Given the description of an element on the screen output the (x, y) to click on. 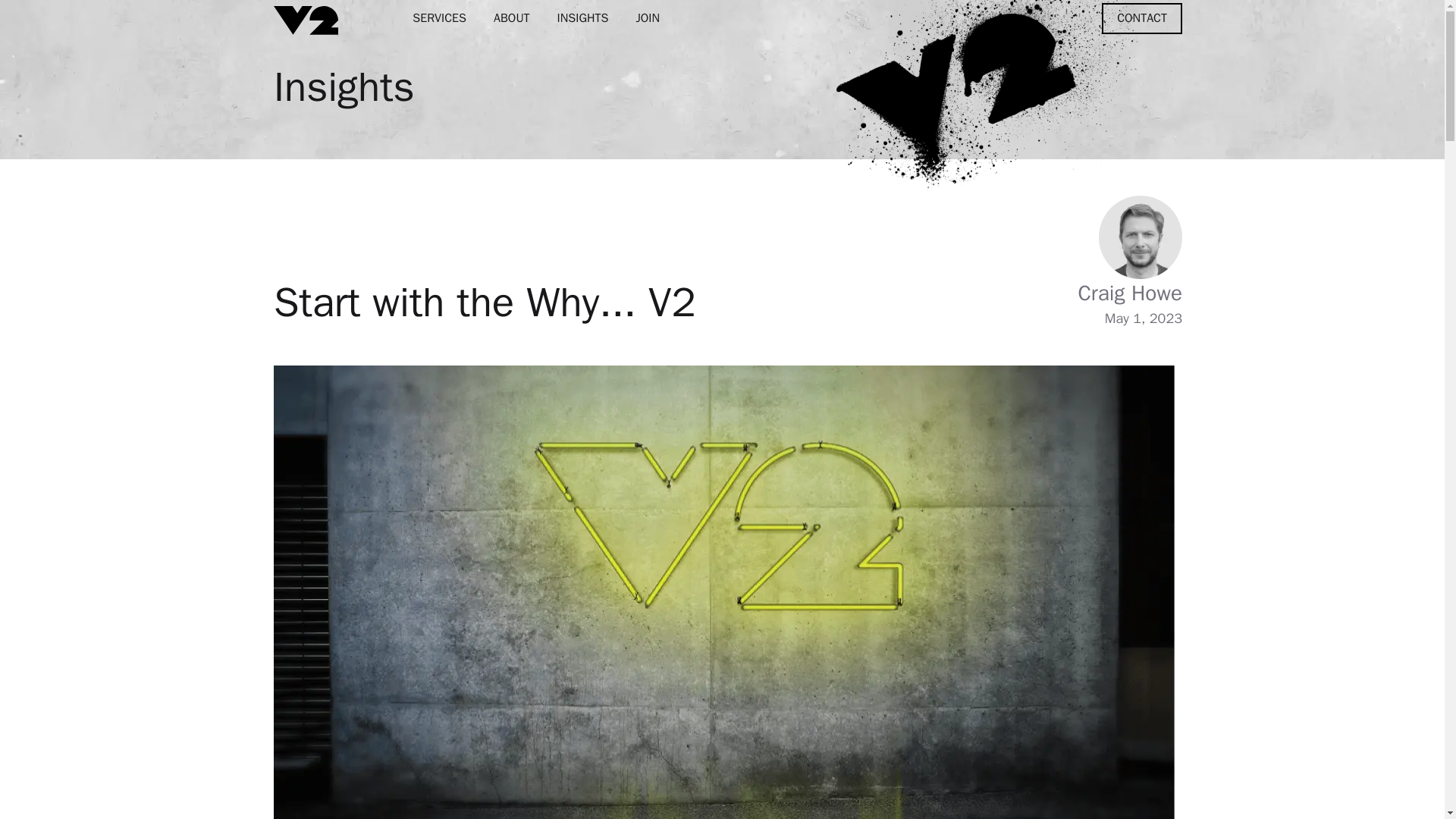
CONTACT (1142, 18)
JOIN (646, 18)
INSIGHTS (583, 18)
Insights (343, 86)
ABOUT (511, 18)
SERVICES (439, 18)
